Given the description of an element on the screen output the (x, y) to click on. 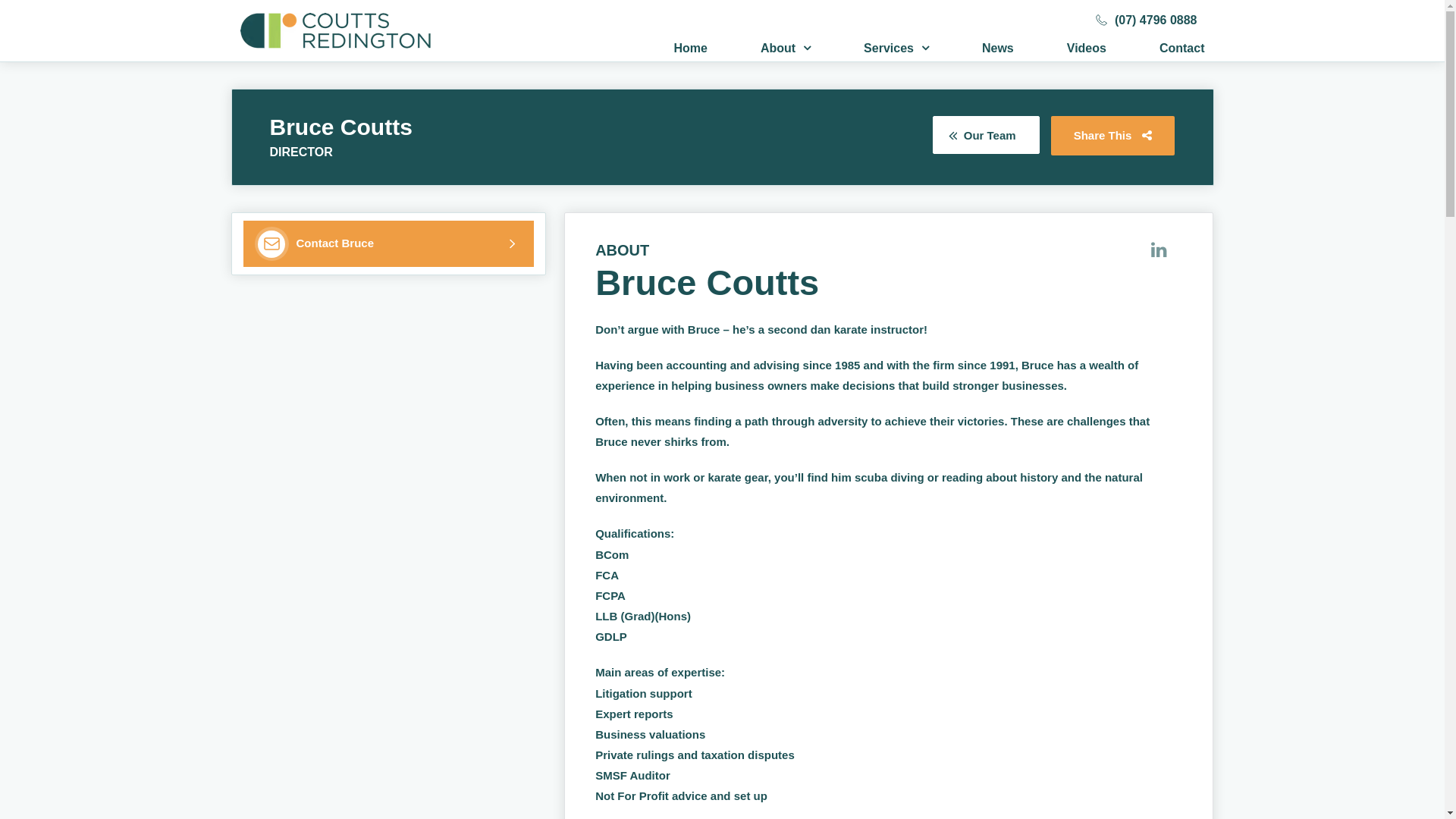
Videos Element type: text (1086, 47)
Search Element type: text (1142, 34)
Our Team Element type: text (985, 134)
About Element type: text (785, 47)
Contact Element type: text (1181, 47)
News Element type: text (997, 47)
(07) 4796 0888 Element type: text (1146, 19)
Share This Element type: text (1112, 134)
Contact Bruce Element type: text (387, 243)
Home Element type: text (689, 47)
Services Element type: text (895, 47)
